Given the description of an element on the screen output the (x, y) to click on. 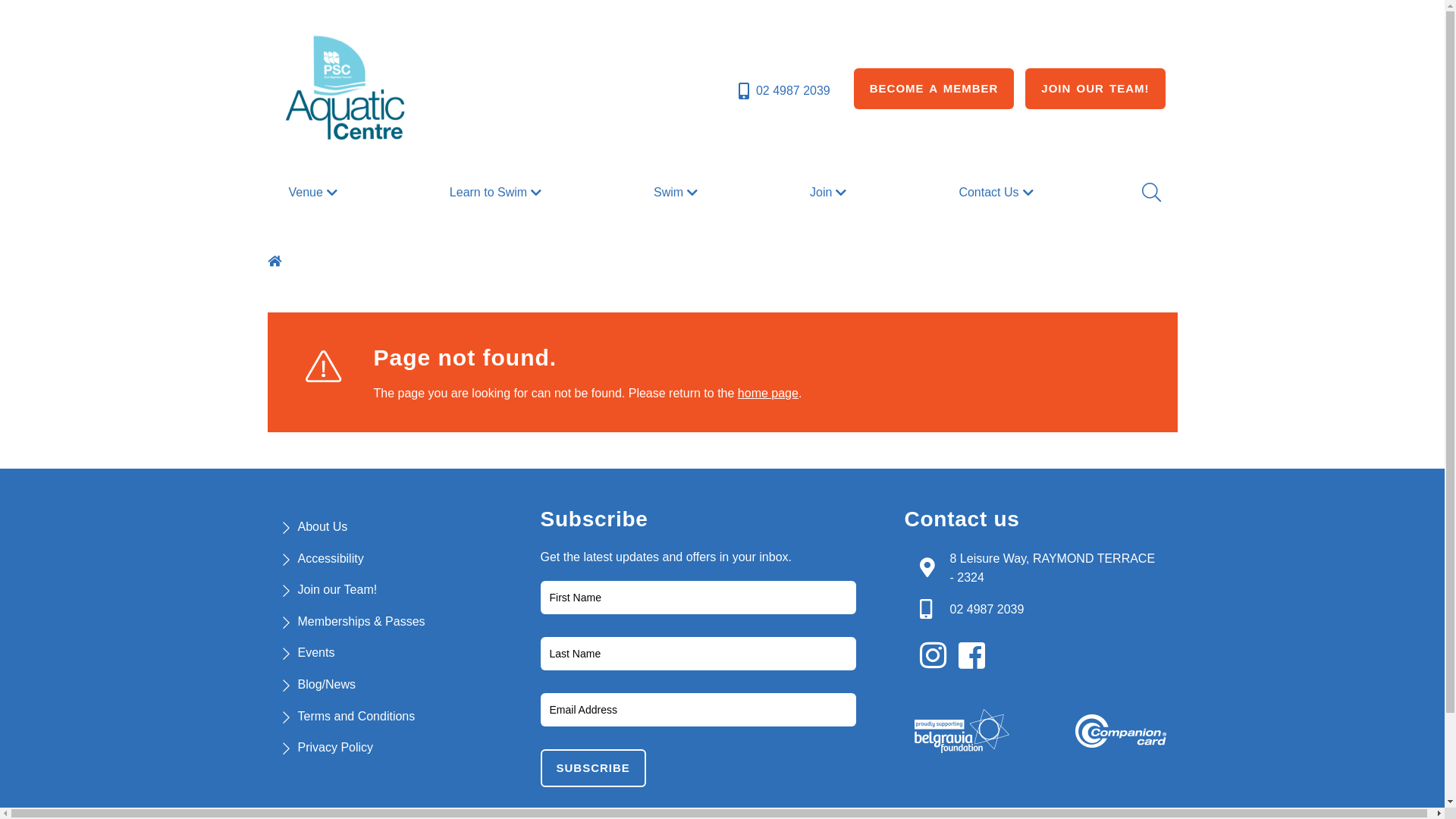
Join our Team! Element type: text (336, 589)
Events Element type: text (315, 652)
02 4987 2039 Element type: text (986, 608)
BECOME A MEMBER Element type: text (933, 88)
JOIN OUR TEAM! Element type: text (1094, 88)
Blog/News Element type: text (325, 683)
subscribe Element type: text (592, 768)
Memberships & Passes Element type: text (360, 621)
Venue Element type: text (314, 192)
  Element type: text (936, 655)
About Us Element type: text (322, 526)
Join Element type: text (829, 192)
Contact Us Element type: text (997, 192)
Privacy Policy Element type: text (335, 746)
  Element type: text (975, 655)
home page Element type: text (767, 392)
Learn to Swim Element type: text (497, 192)
Search Element type: text (1150, 192)
Swim Element type: text (677, 192)
02 4987 2039 Element type: text (782, 90)
Accessibility Element type: text (330, 558)
  Element type: text (275, 260)
Terms and Conditions Element type: text (355, 715)
